Given the description of an element on the screen output the (x, y) to click on. 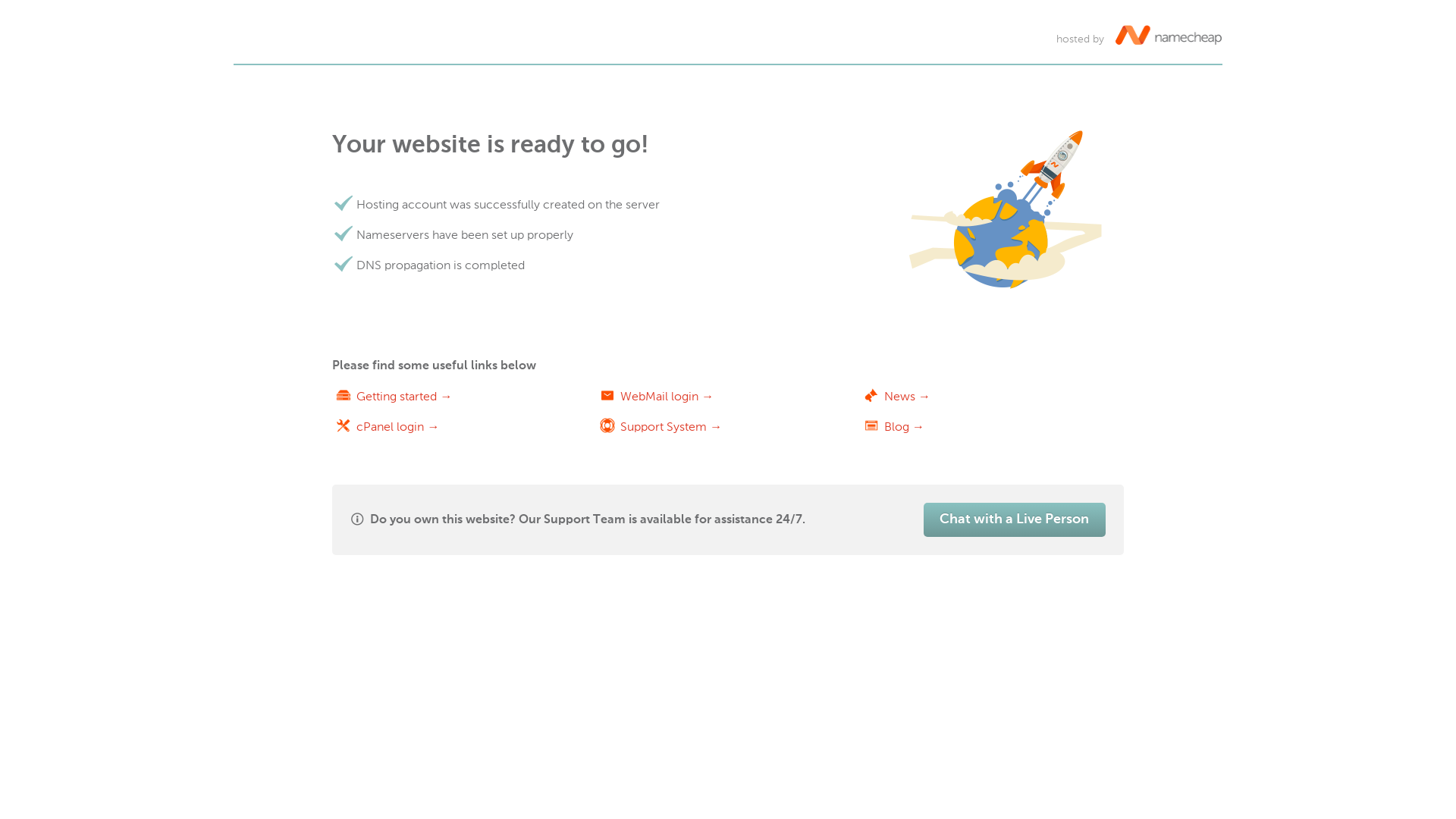
Chat with a Live Person Element type: text (1014, 519)
